Given the description of an element on the screen output the (x, y) to click on. 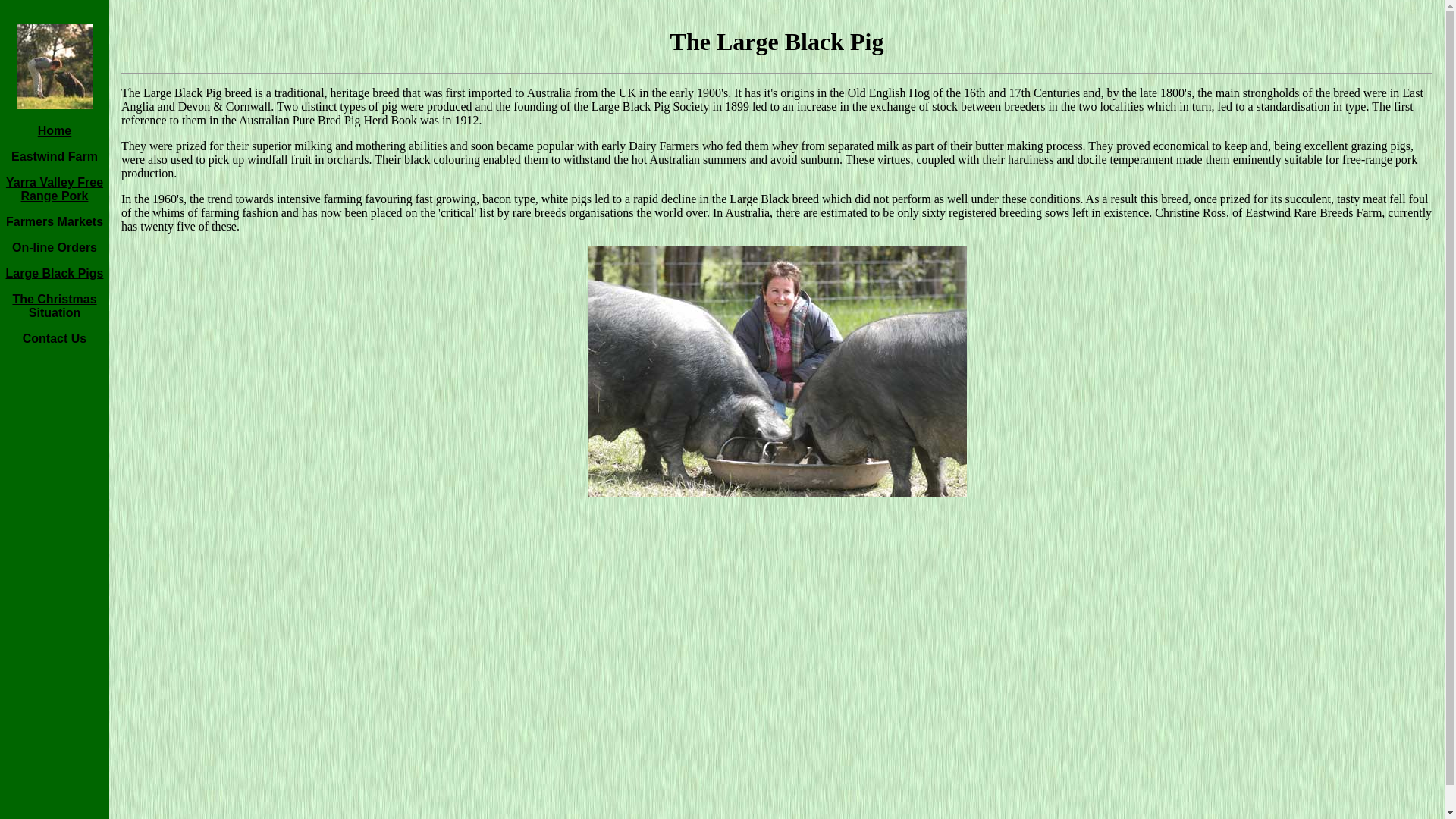
Eastwind Farm Element type: text (54, 156)
Yarra Valley Free Range Pork Element type: text (54, 188)
The Christmas Situation Element type: text (54, 305)
Home Element type: text (54, 130)
Farmers Markets Element type: text (54, 221)
Contact Us Element type: text (54, 338)
On-line Orders Element type: text (54, 247)
Large Black Pigs Element type: text (54, 272)
